Given the description of an element on the screen output the (x, y) to click on. 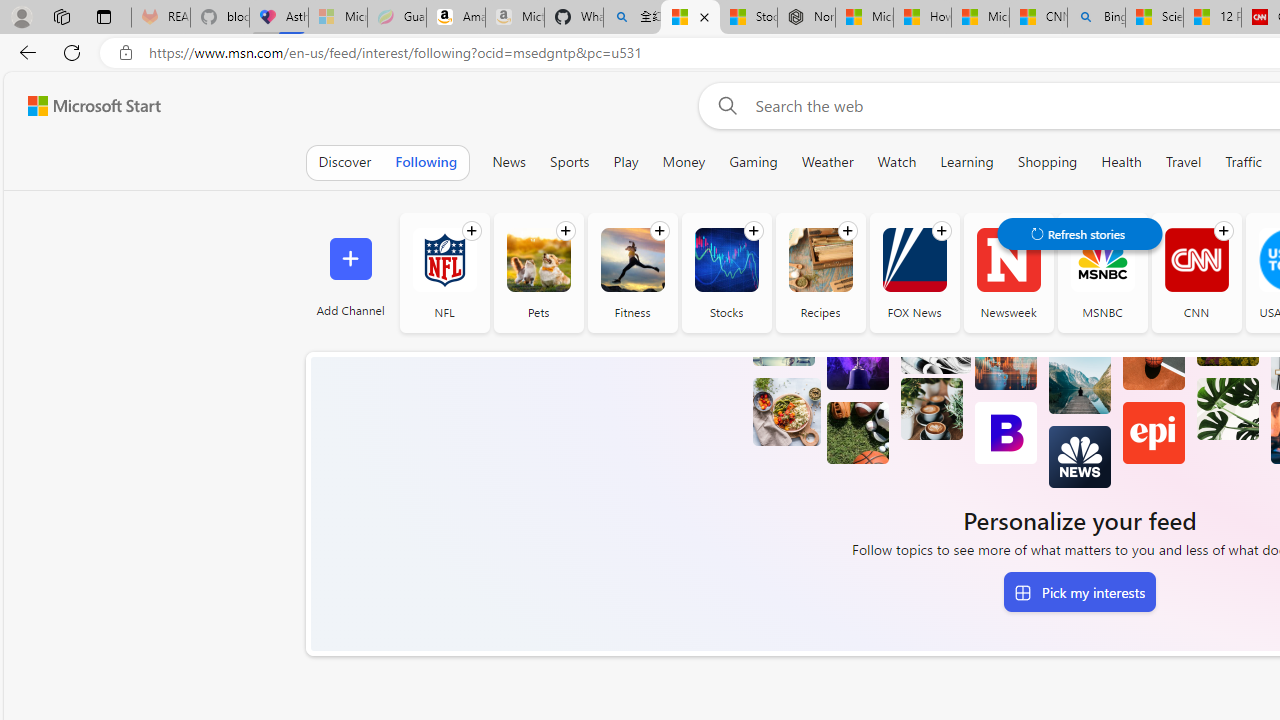
Bing (1096, 17)
Learning (967, 162)
Recipes (820, 260)
Stocks (725, 272)
Pets (537, 272)
Web search (724, 105)
Add Channel (349, 272)
Class: control (1079, 233)
Stocks - MSN (747, 17)
Pick my interests (1079, 591)
Science - MSN (1154, 17)
